Given the description of an element on the screen output the (x, y) to click on. 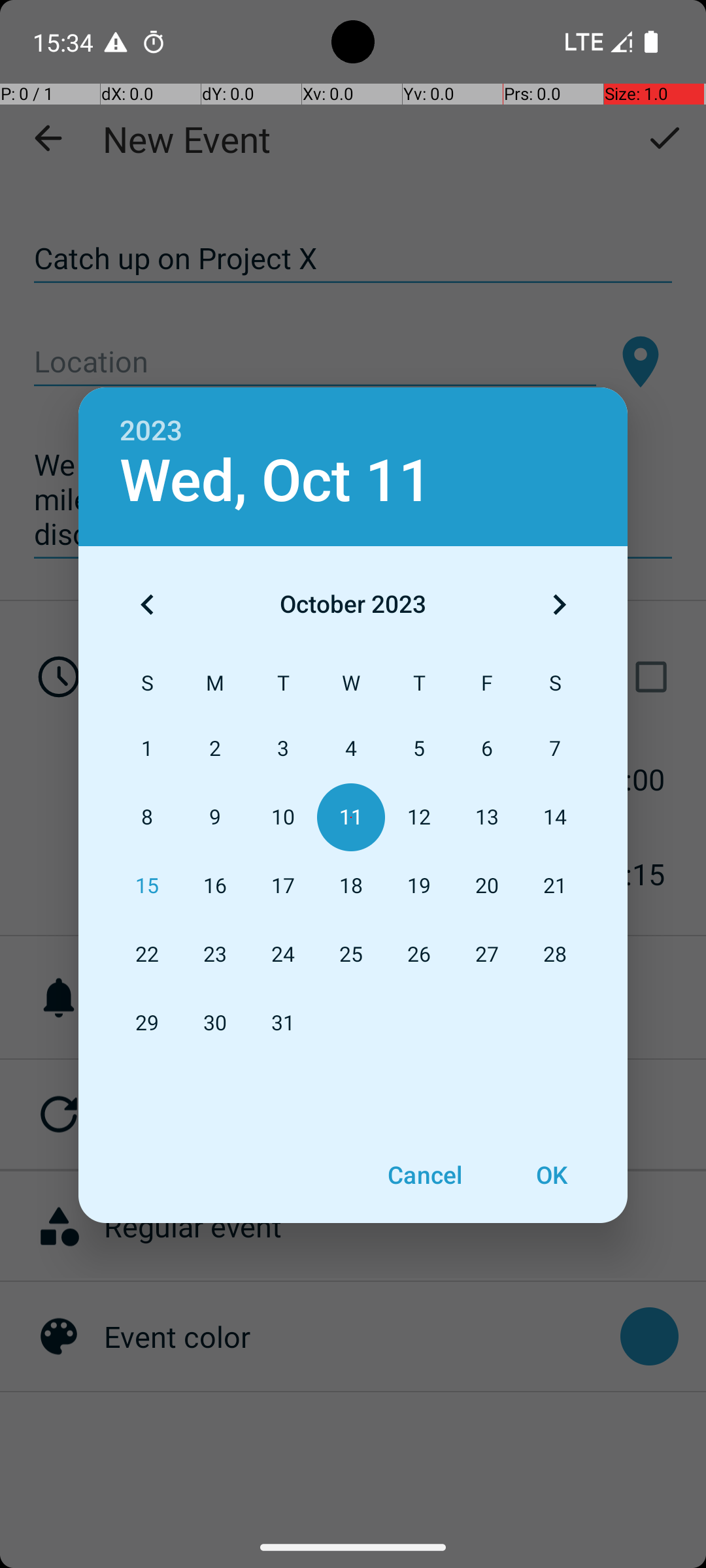
Wed, Oct 11 Element type: android.widget.TextView (275, 480)
